Given the description of an element on the screen output the (x, y) to click on. 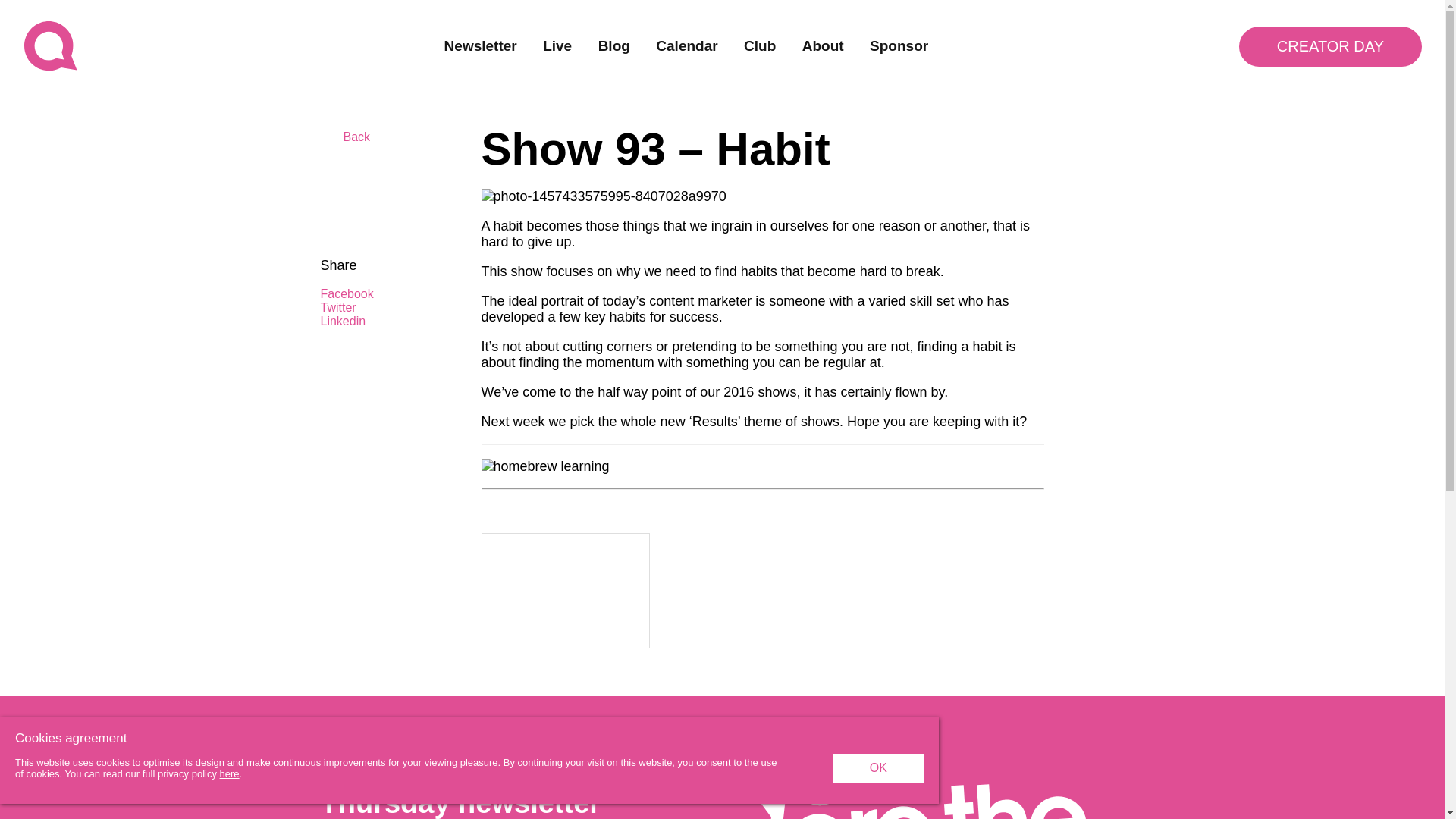
CREATOR DAY (1330, 45)
Twitter (360, 307)
Newsletter (480, 45)
Calendar (687, 45)
here (229, 773)
Sponsor (899, 45)
Facebook (360, 294)
Linkedin (360, 321)
About (823, 45)
